Given the description of an element on the screen output the (x, y) to click on. 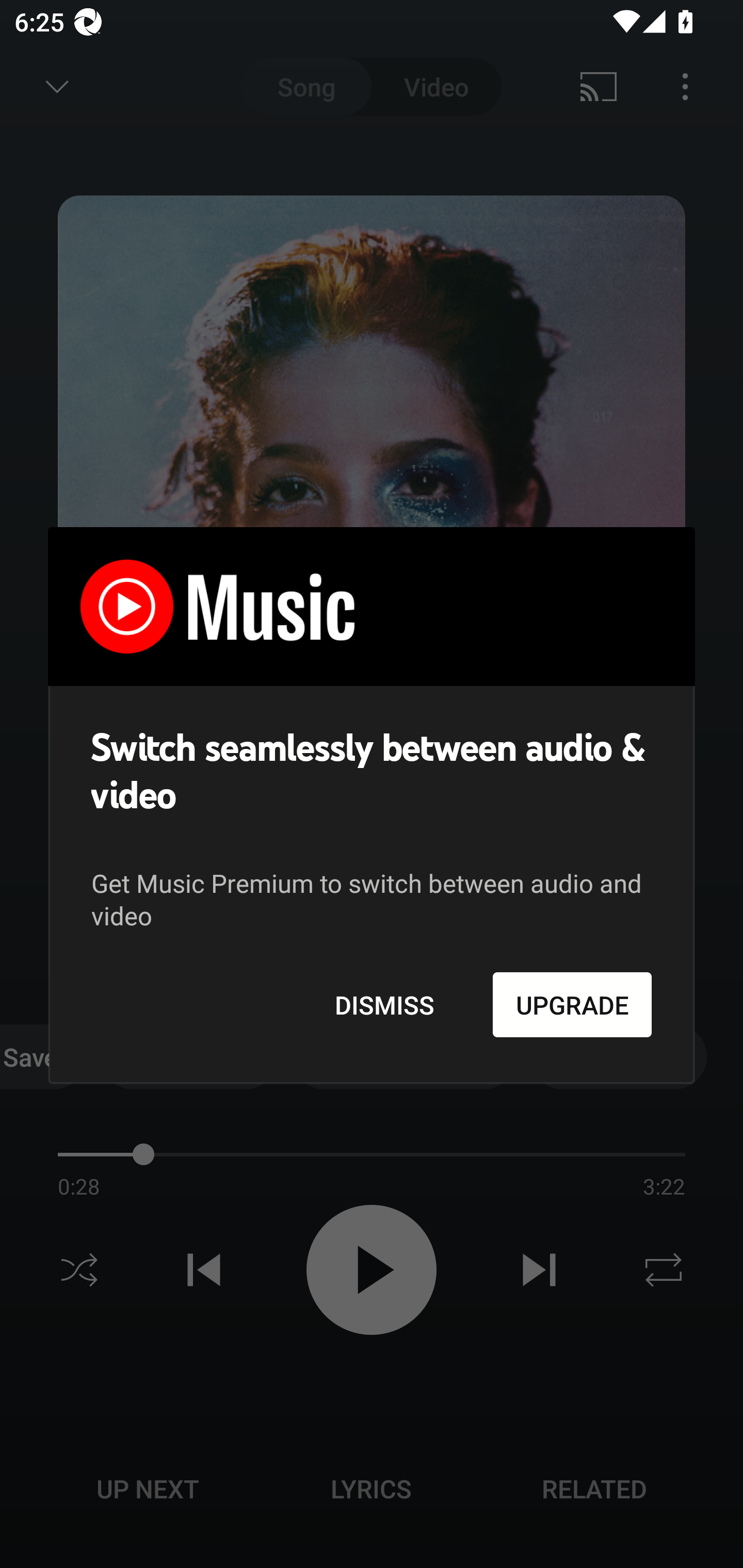
DISMISS Dismiss (384, 1004)
UPGRADE Upgrade (572, 1004)
